Given the description of an element on the screen output the (x, y) to click on. 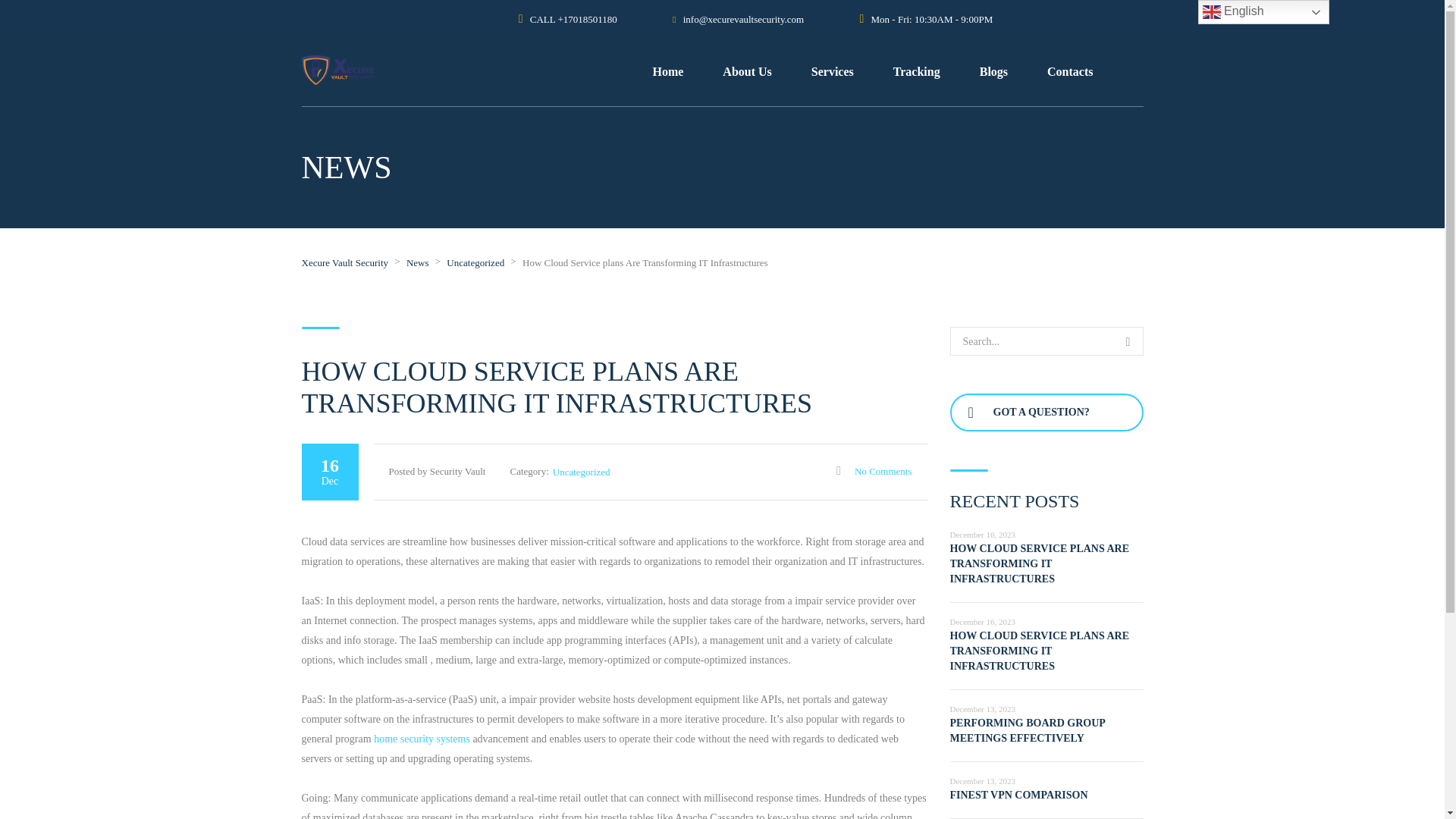
FINEST VPN COMPARISON (1018, 794)
home security systems (422, 738)
Go to the Uncategorized Category archives. (474, 262)
PERFORMING BOARD GROUP MEETINGS EFFECTIVELY (1027, 730)
No Comments (873, 471)
HOW CLOUD SERVICE PLANS ARE TRANSFORMING IT INFRASTRUCTURES (1039, 563)
Xecure Vault Security (344, 262)
News (417, 262)
Uncategorized (474, 262)
GOT A QUESTION? (1045, 412)
Uncategorized (581, 471)
Go to News. (417, 262)
HOW CLOUD SERVICE PLANS ARE TRANSFORMING IT INFRASTRUCTURES (1039, 650)
Go to Xecure Vault Security. (344, 262)
